Given the description of an element on the screen output the (x, y) to click on. 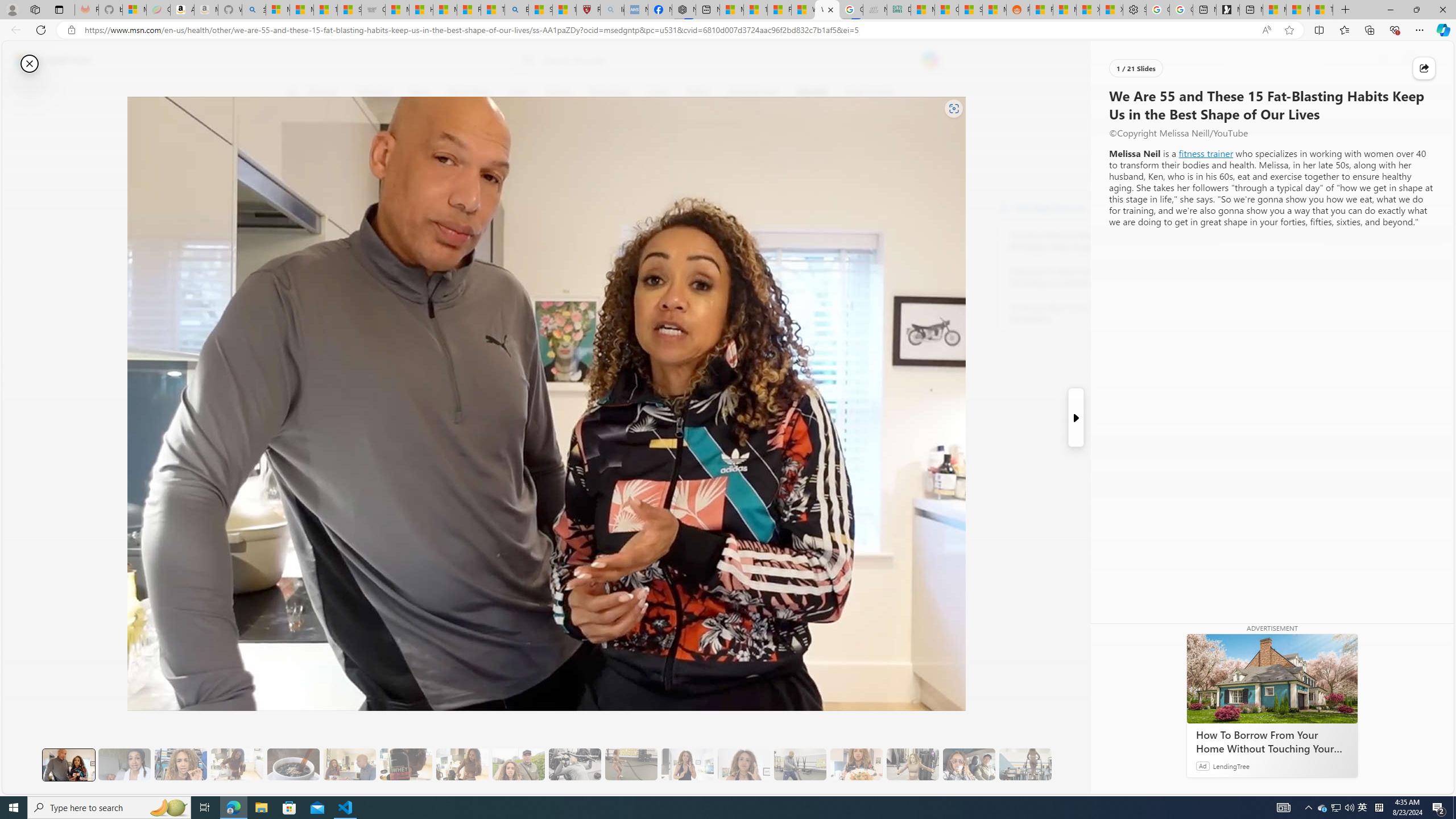
6 Like (299, 138)
Robert H. Shmerling, MD - Harvard Health (588, 9)
Crime (657, 92)
Food & Drink (865, 92)
Recipes - MSN (469, 9)
